Given the description of an element on the screen output the (x, y) to click on. 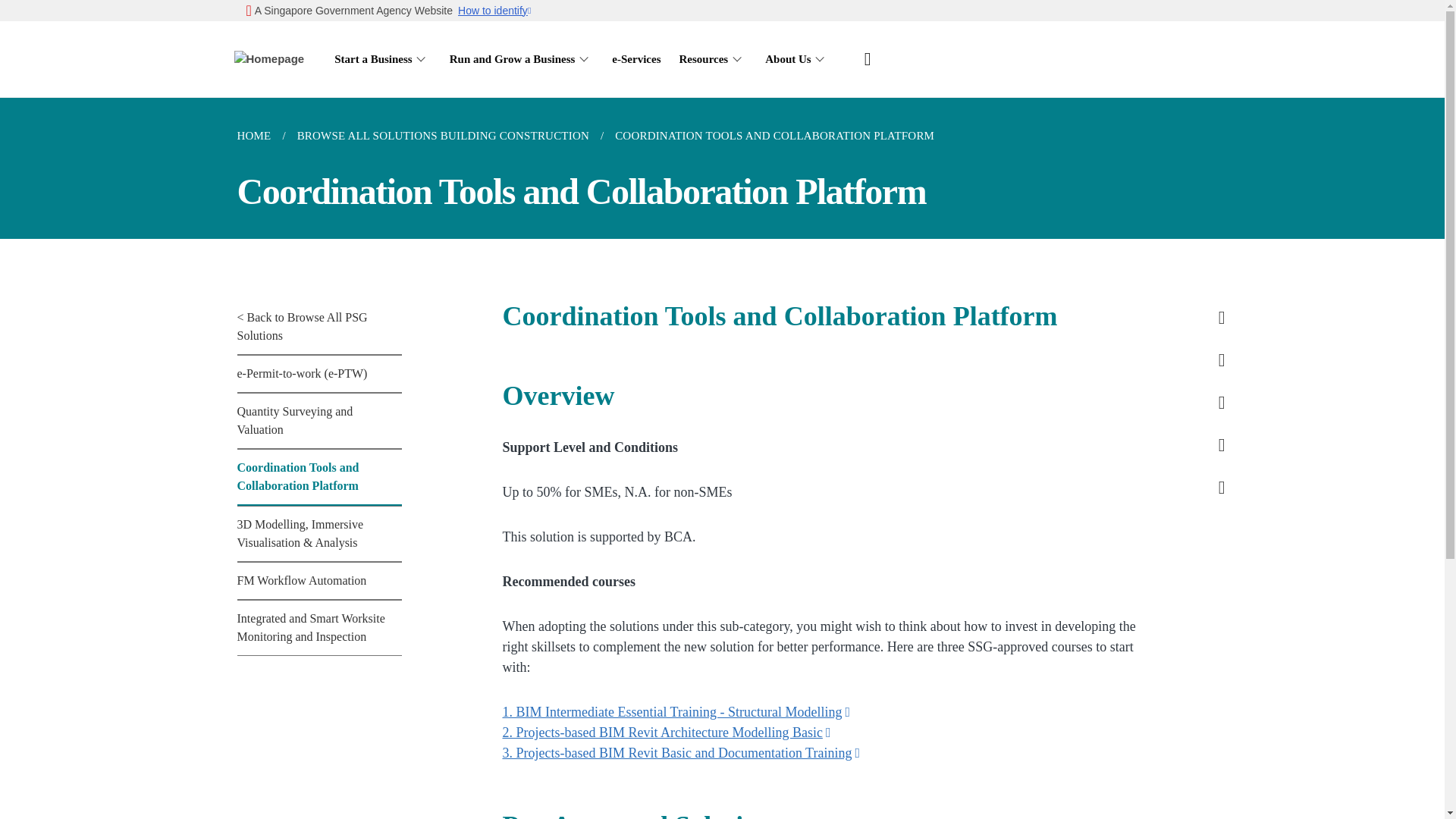
BROWSE ALL SOLUTIONS BUILDING CONSTRUCTION (442, 135)
HOME (258, 135)
Start a Business (382, 59)
Run and Grow a Business (521, 59)
COORDINATION TOOLS AND COLLABORATION PLATFORM (774, 135)
Resources (712, 59)
